Given the description of an element on the screen output the (x, y) to click on. 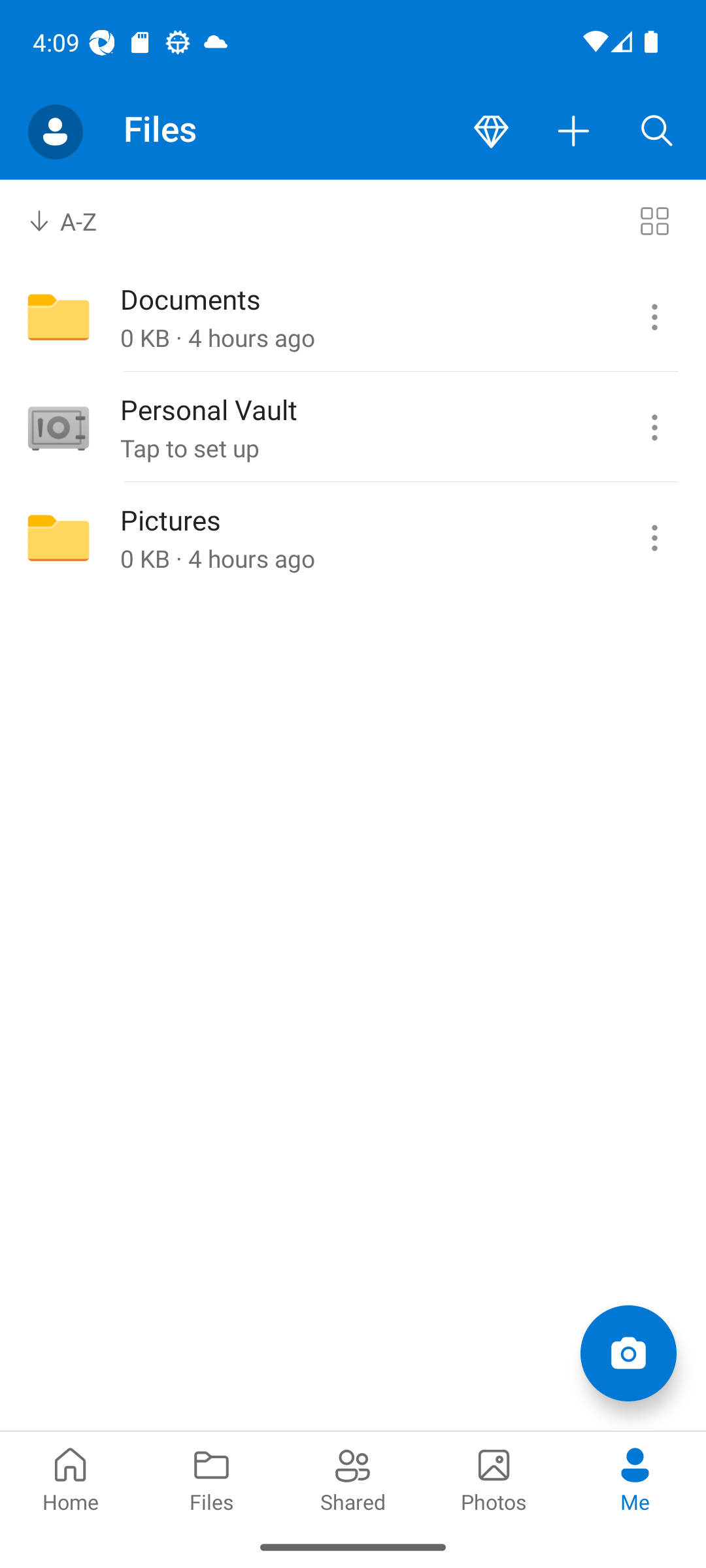
Account switcher (55, 131)
Premium button (491, 131)
More actions button (574, 131)
Search button (656, 131)
A-Z Sort by combo box, sort by name, A to Z (76, 220)
Switch to tiles view (654, 220)
Documents commands (654, 317)
Personal Vault commands (654, 427)
Pictures commands (654, 537)
Add items Scan (628, 1352)
Home pivot Home (70, 1478)
Files pivot selected Files (211, 1478)
Shared pivot Shared (352, 1478)
Photos pivot Photos (493, 1478)
